Given the description of an element on the screen output the (x, y) to click on. 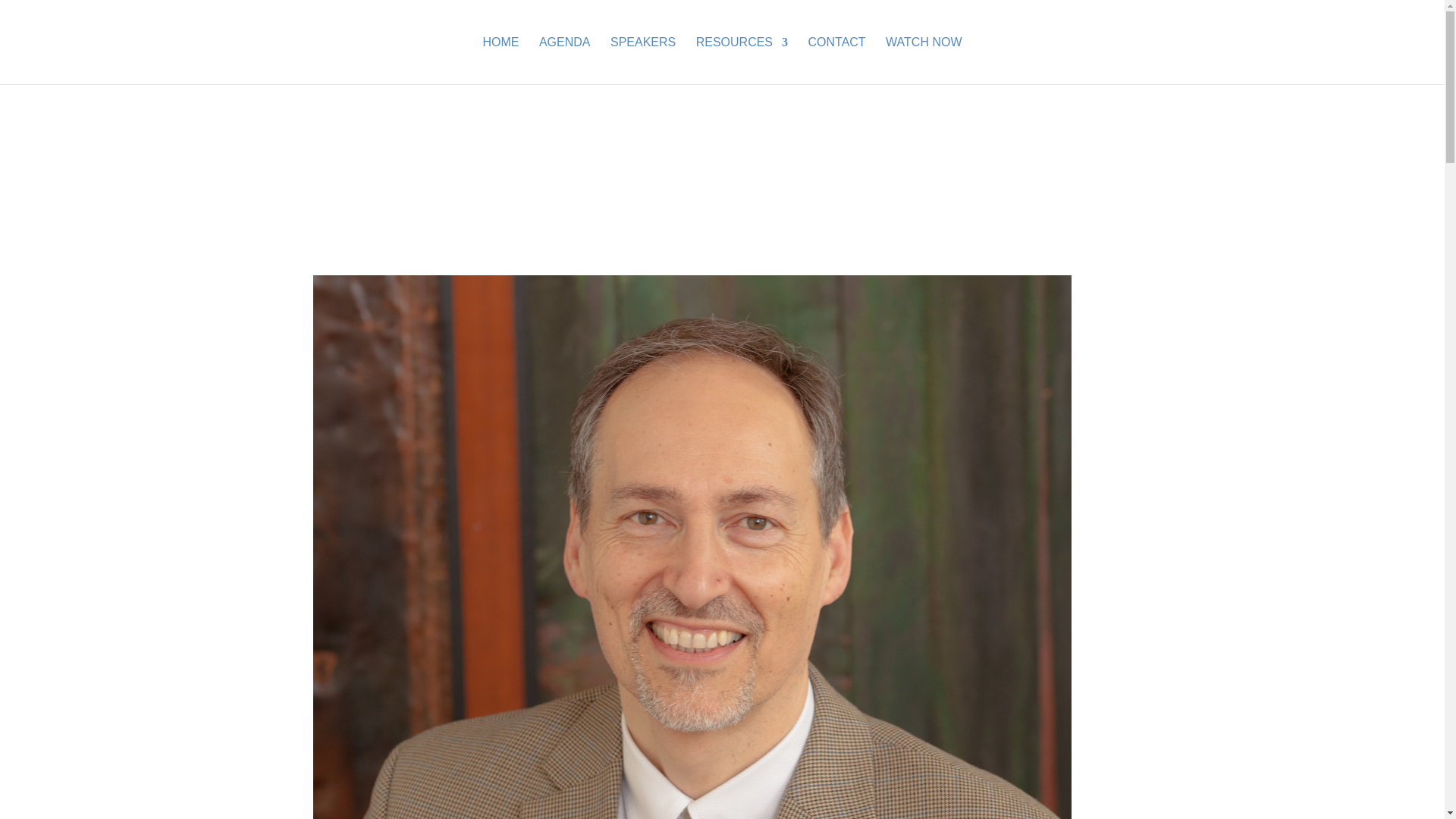
RESOURCES (741, 60)
SPEAKERS (642, 60)
WATCH NOW (922, 60)
AGENDA (564, 60)
CONTACT (837, 60)
